Given the description of an element on the screen output the (x, y) to click on. 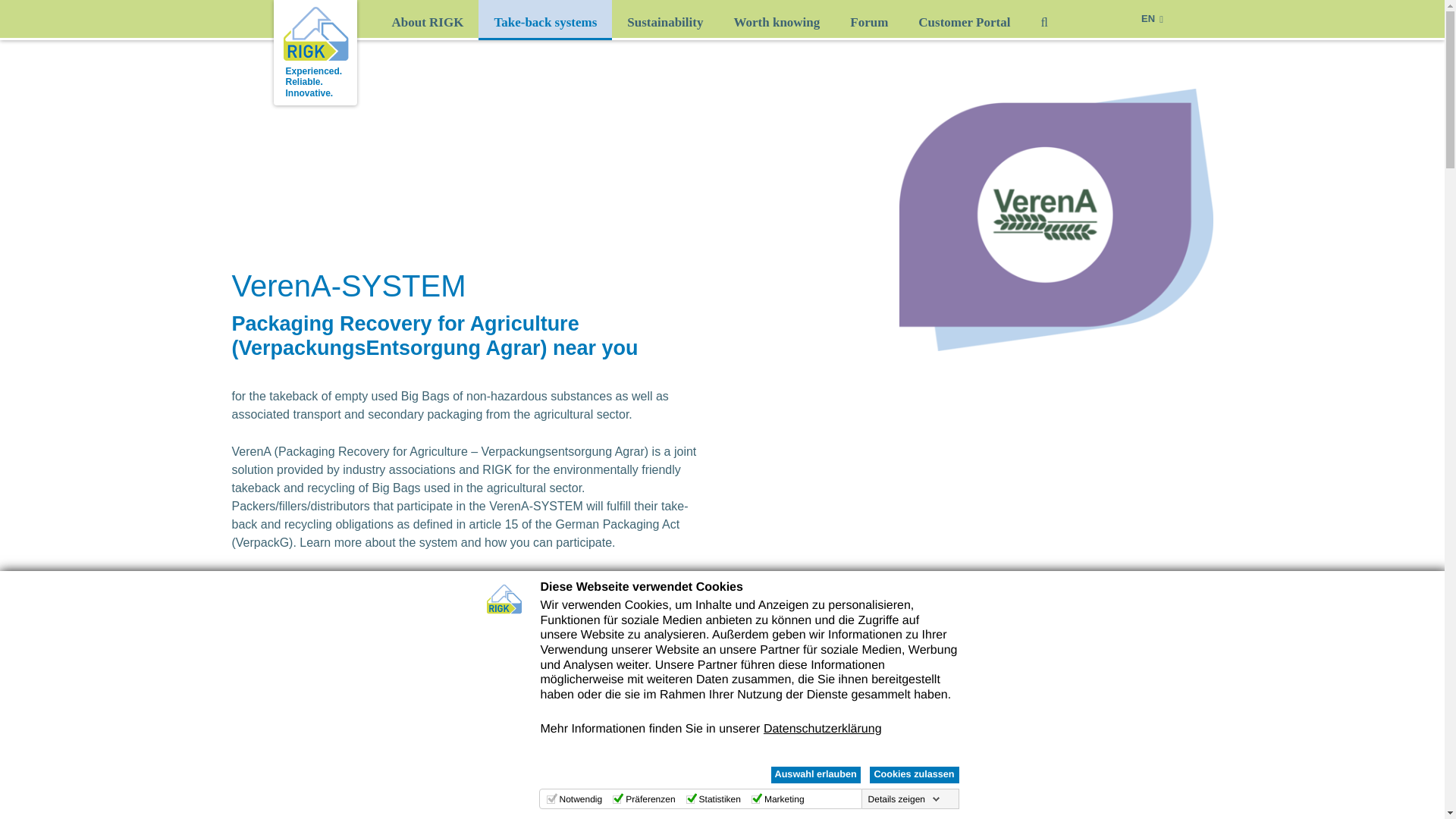
Cookies zulassen (913, 773)
Details zeigen (903, 799)
Auswahl erlauben (815, 773)
